Given the description of an element on the screen output the (x, y) to click on. 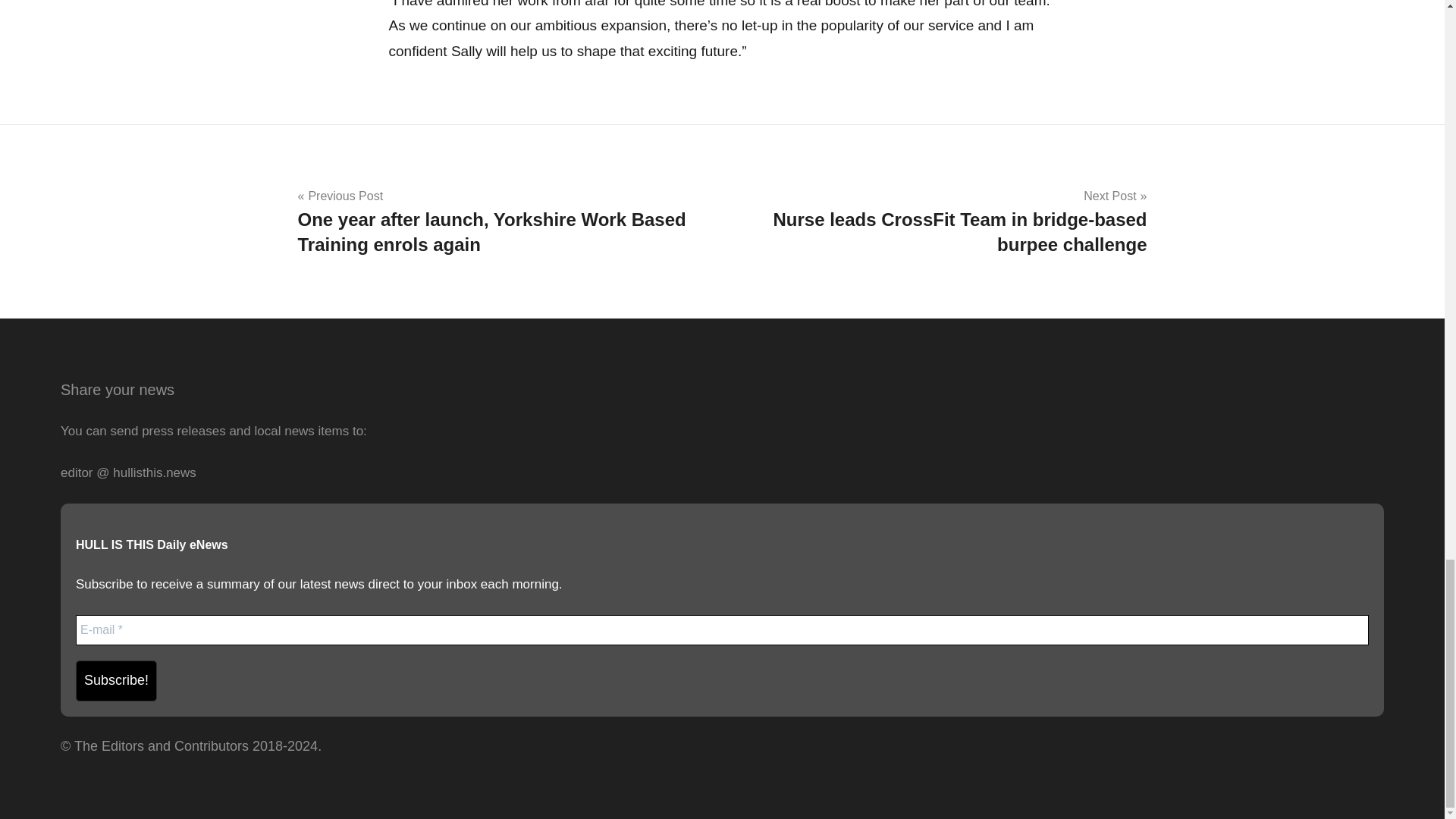
Subscribe! (116, 680)
Subscribe! (116, 680)
E-mail (721, 630)
